Given the description of an element on the screen output the (x, y) to click on. 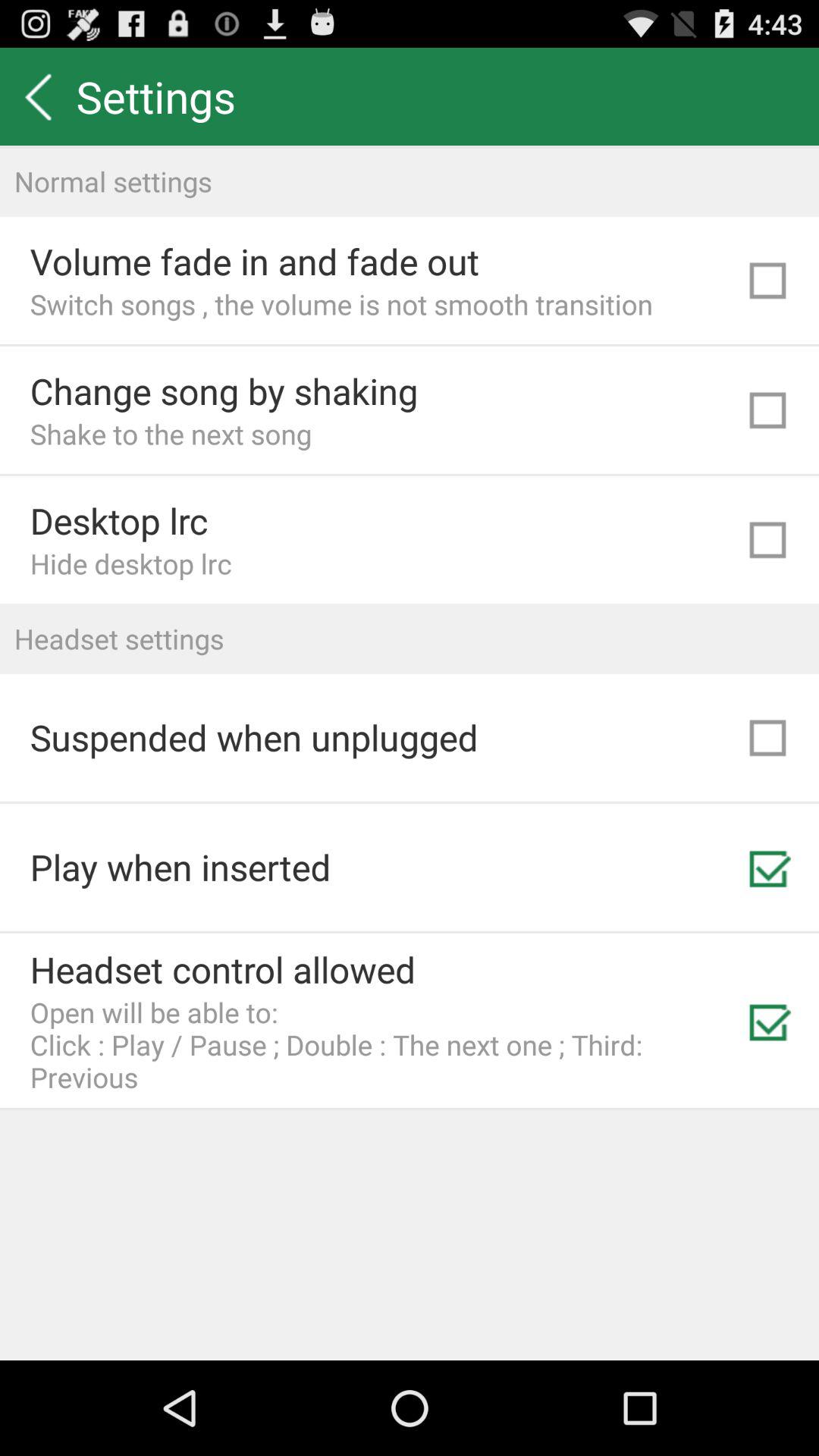
swipe until change song by (224, 390)
